Given the description of an element on the screen output the (x, y) to click on. 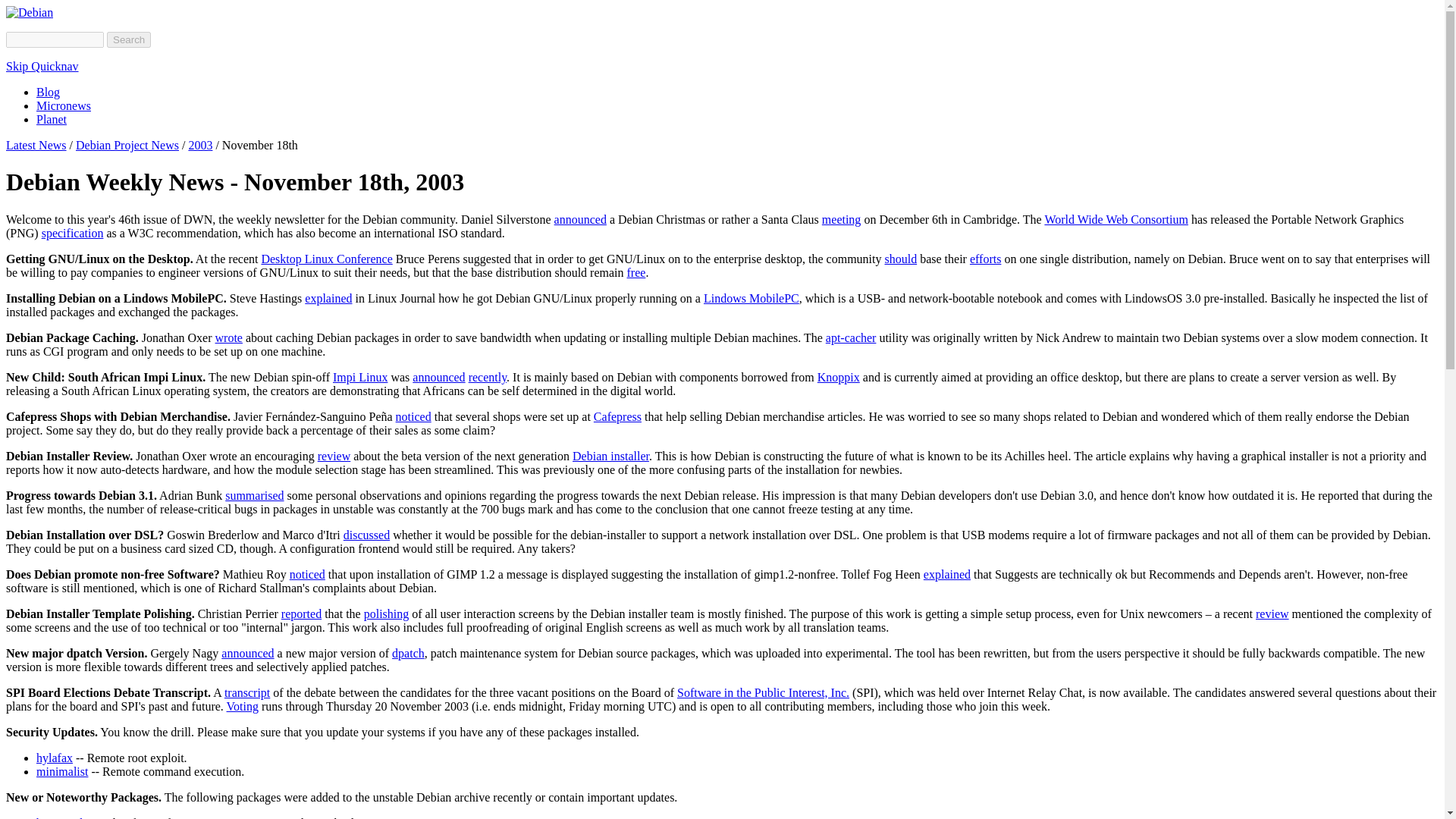
Impi Linux (360, 377)
review (1271, 613)
wrote (229, 337)
free (636, 272)
should (900, 258)
Search (128, 39)
Micronews (63, 105)
World Wide Web Consortium (1115, 219)
summarised (254, 495)
Latest News (35, 144)
